Given the description of an element on the screen output the (x, y) to click on. 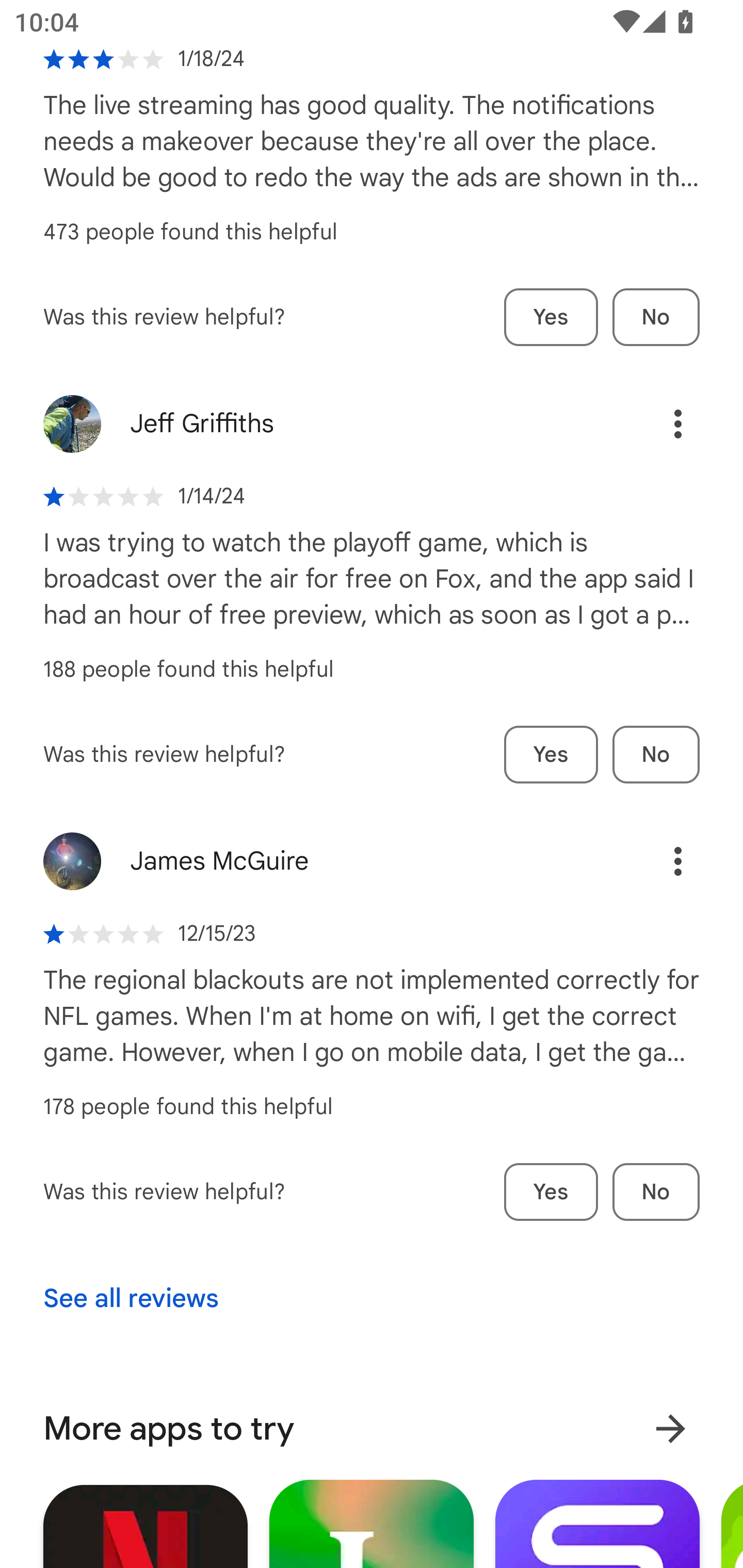
Yes (550, 317)
No (655, 317)
Options (655, 424)
Yes (550, 754)
No (655, 754)
Options (655, 861)
Yes (550, 1192)
No (655, 1192)
See all reviews (130, 1298)
More apps to try More results for More apps to try (371, 1428)
More results for More apps to try (670, 1429)
